Given the description of an element on the screen output the (x, y) to click on. 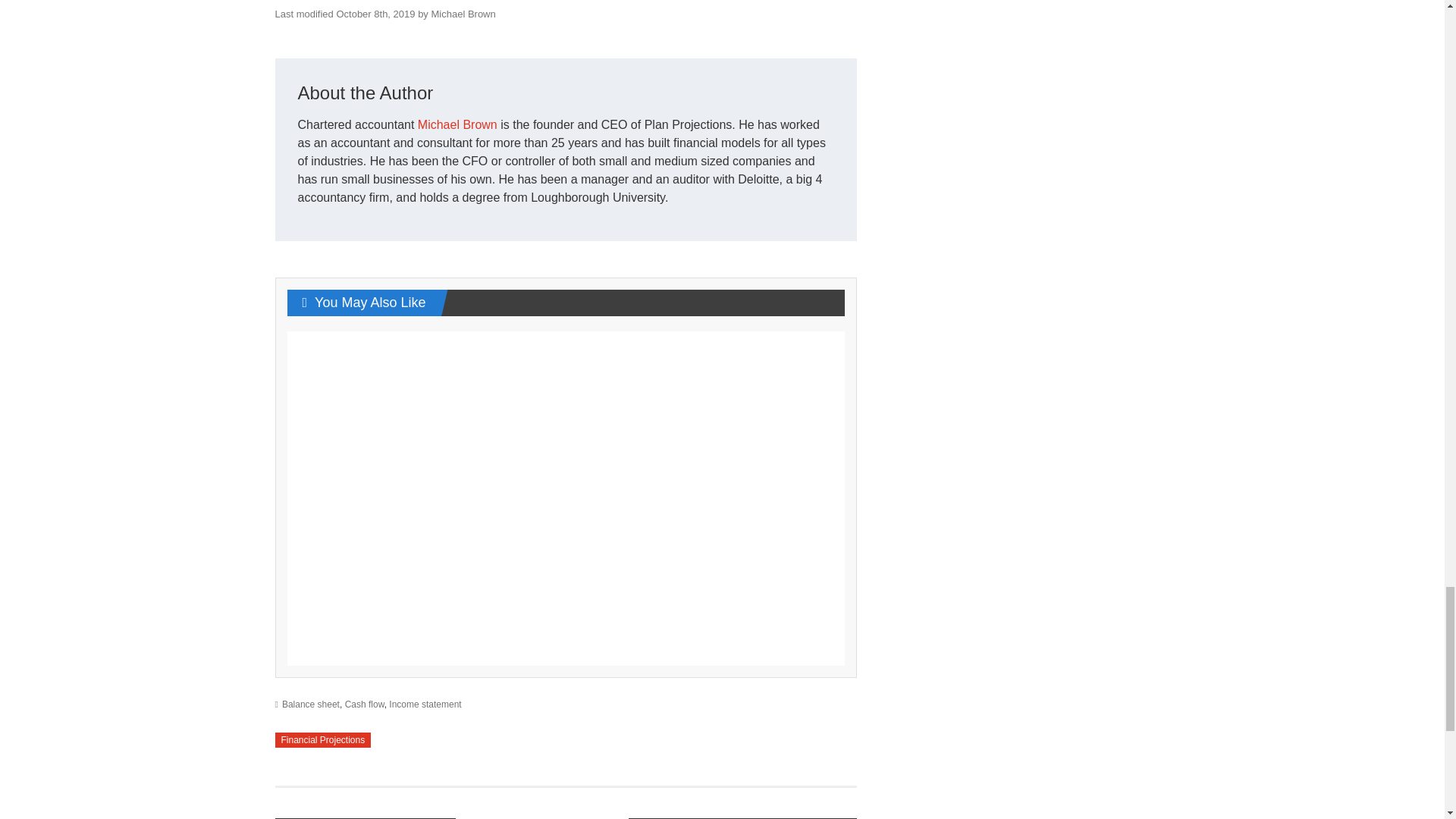
Cash flow (364, 704)
Balance sheet (310, 704)
Income statement (424, 704)
Michael Brown (457, 124)
Financial Projections (323, 739)
